Given the description of an element on the screen output the (x, y) to click on. 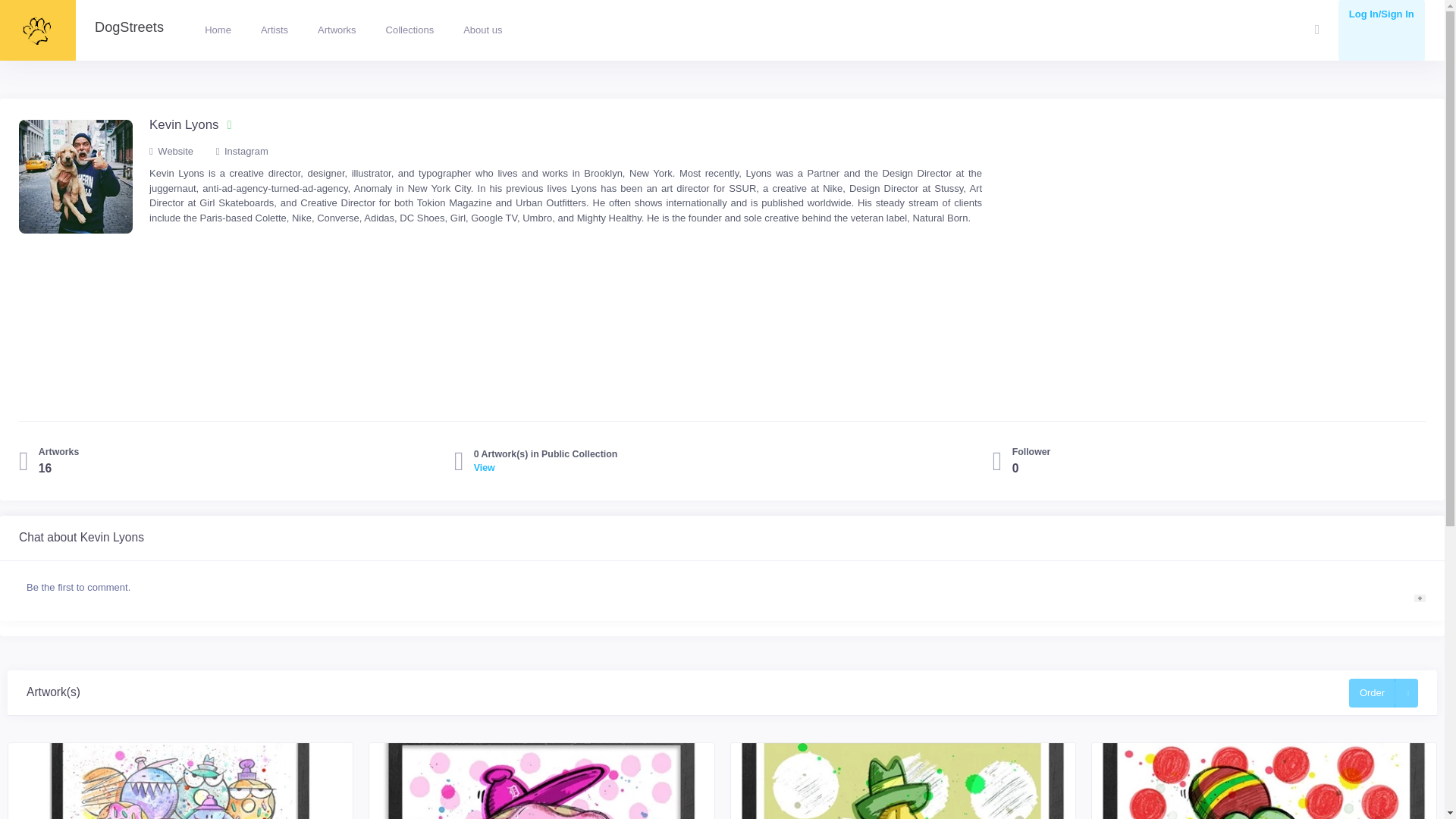
Instagram (251, 151)
Home (217, 30)
View (545, 468)
Order (1371, 692)
Artists (274, 30)
About us (483, 30)
Artworks (336, 30)
Website (180, 151)
Collections (408, 30)
